Given the description of an element on the screen output the (x, y) to click on. 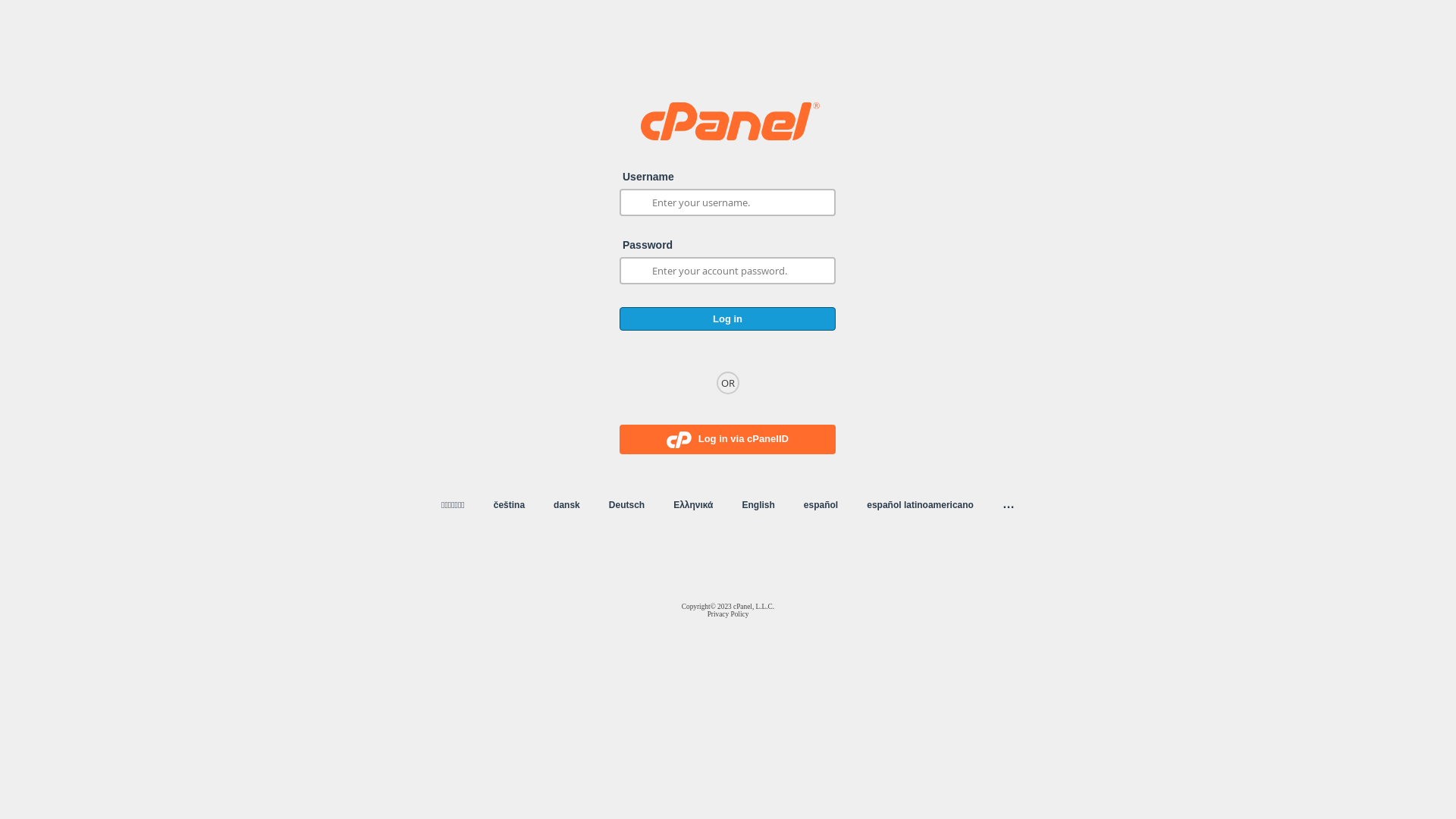
Log in Element type: text (727, 318)
Deutsch Element type: text (626, 504)
Log in via cPanelID Element type: text (727, 439)
Privacy Policy Element type: text (728, 614)
dansk Element type: text (566, 504)
English Element type: text (757, 504)
